Given the description of an element on the screen output the (x, y) to click on. 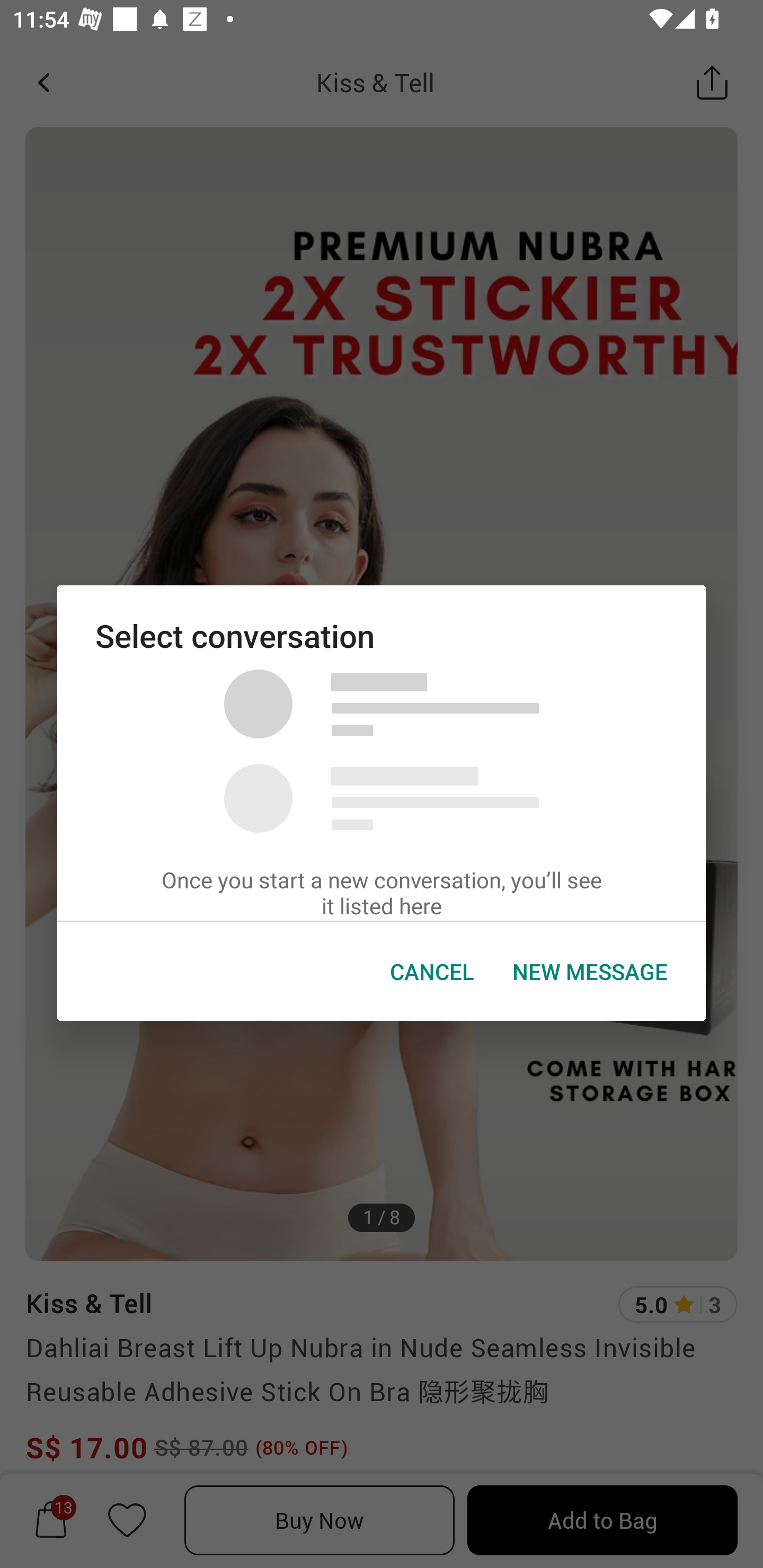
CANCEL (431, 971)
NEW MESSAGE (589, 971)
